Given the description of an element on the screen output the (x, y) to click on. 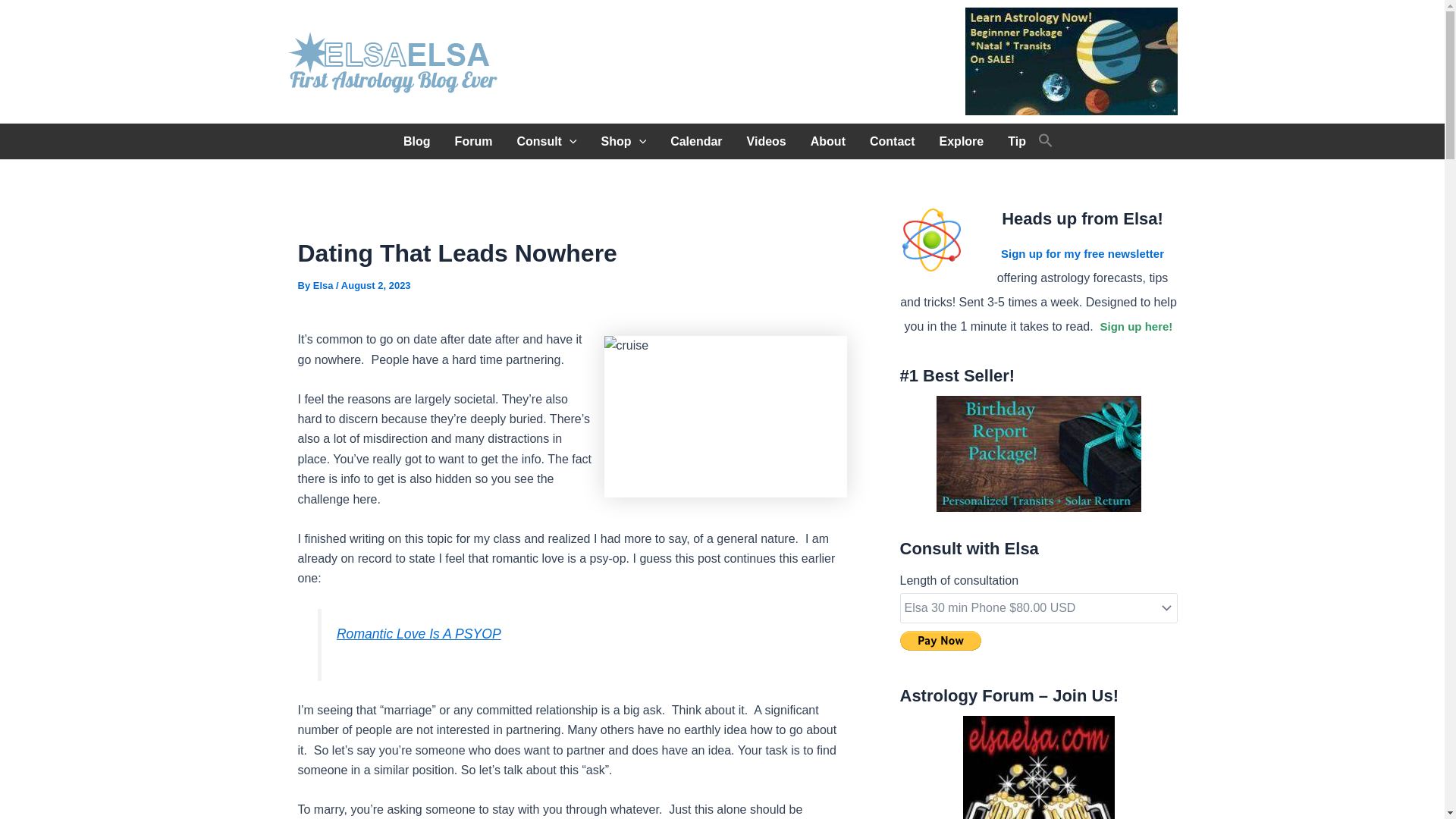
Tip (1016, 140)
Contact (892, 140)
About (827, 140)
Elsa (324, 285)
Videos (766, 140)
Shop (624, 140)
Blog (416, 140)
Consult (545, 140)
Explore (961, 140)
View all posts by Elsa (324, 285)
